Given the description of an element on the screen output the (x, y) to click on. 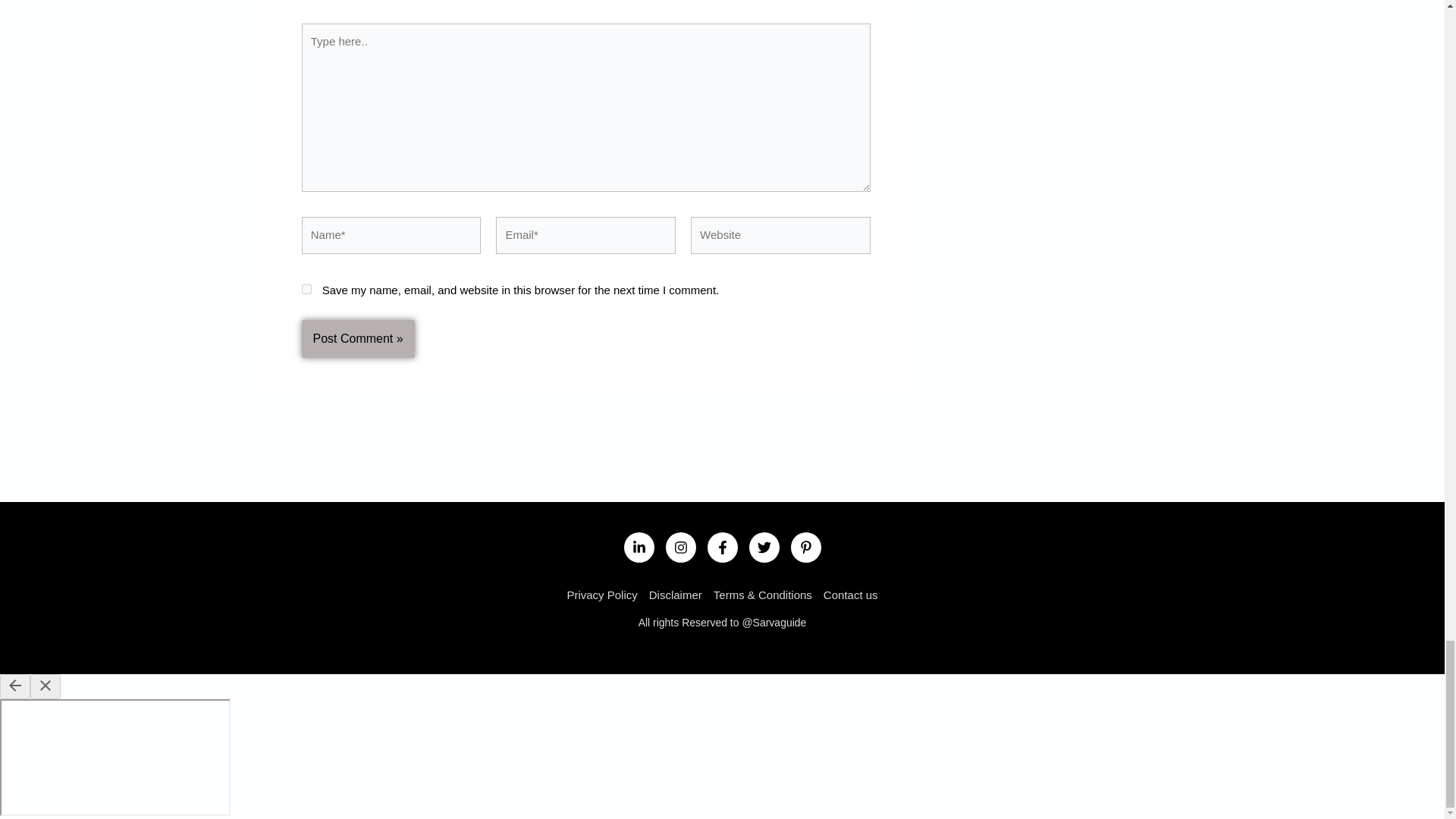
yes (306, 289)
